Given the description of an element on the screen output the (x, y) to click on. 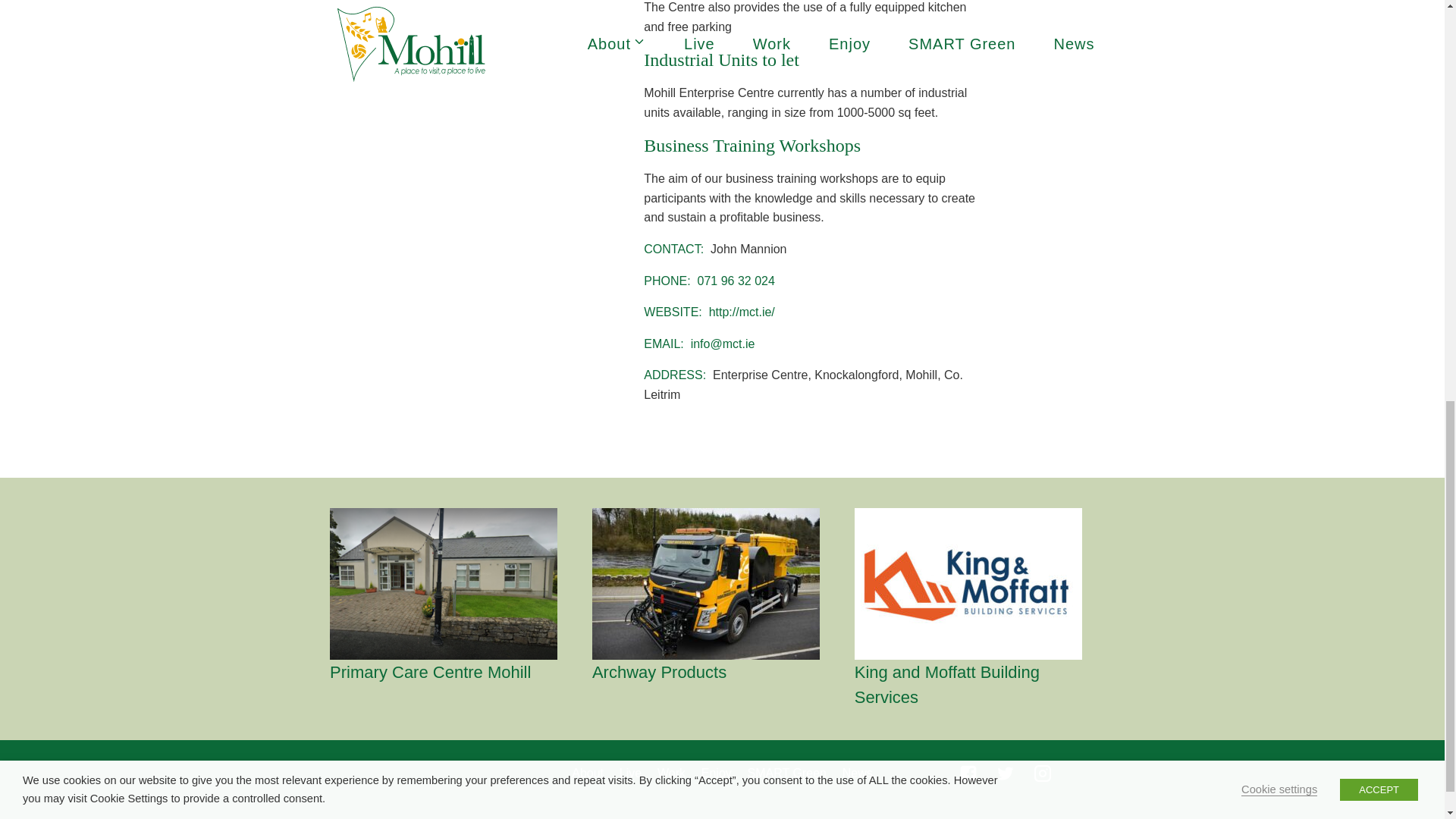
Enjoy (716, 773)
About (587, 773)
Live (630, 773)
Primary Care Centre Mohill (456, 672)
071 96 32 024 (735, 280)
News (857, 773)
King and Moffatt Building Services (980, 685)
SMART Green (786, 773)
Work (671, 773)
Archway Products (718, 672)
